Given the description of an element on the screen output the (x, y) to click on. 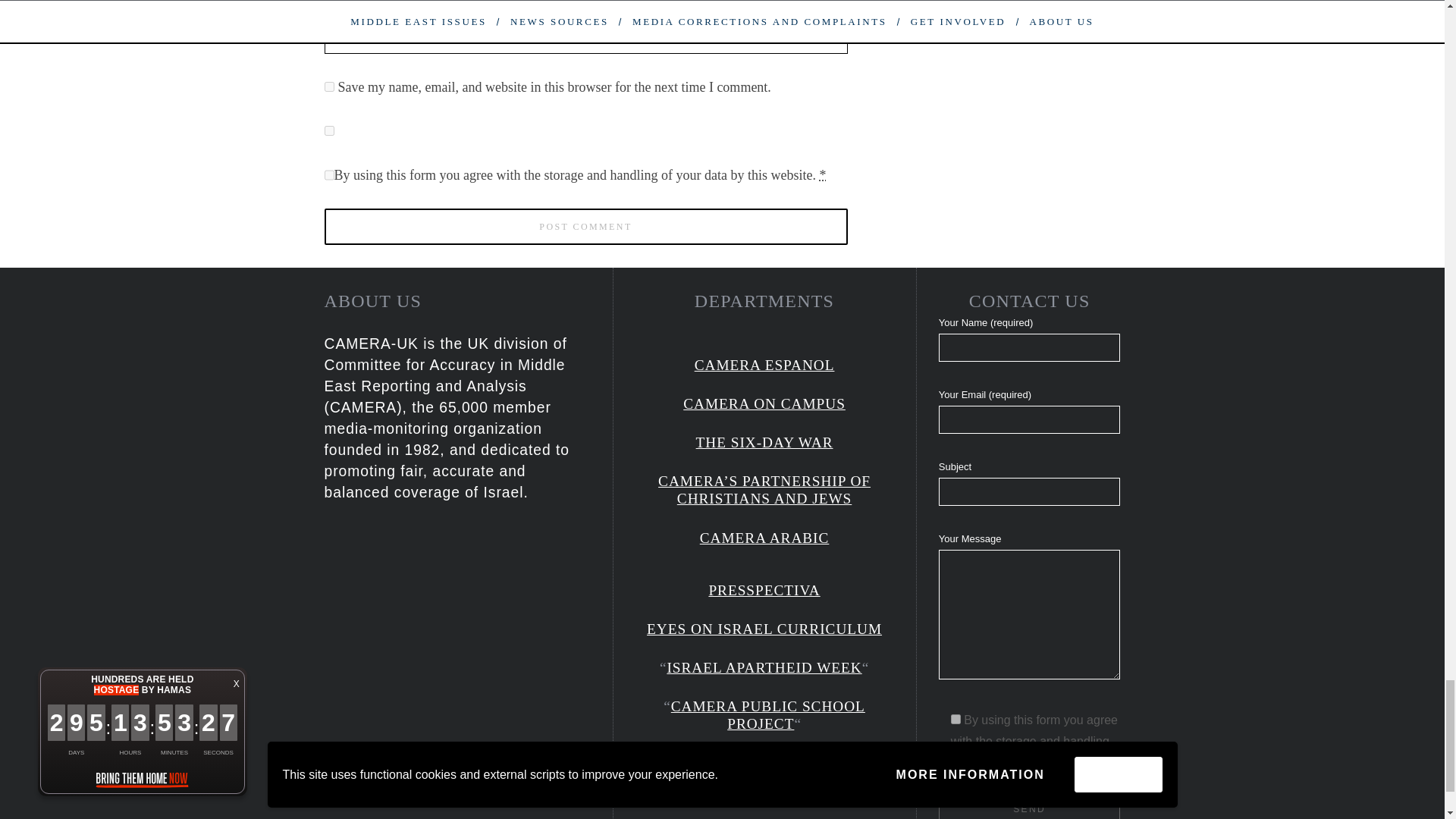
yes (329, 130)
yes (329, 86)
Post Comment (585, 226)
1 (955, 718)
